Given the description of an element on the screen output the (x, y) to click on. 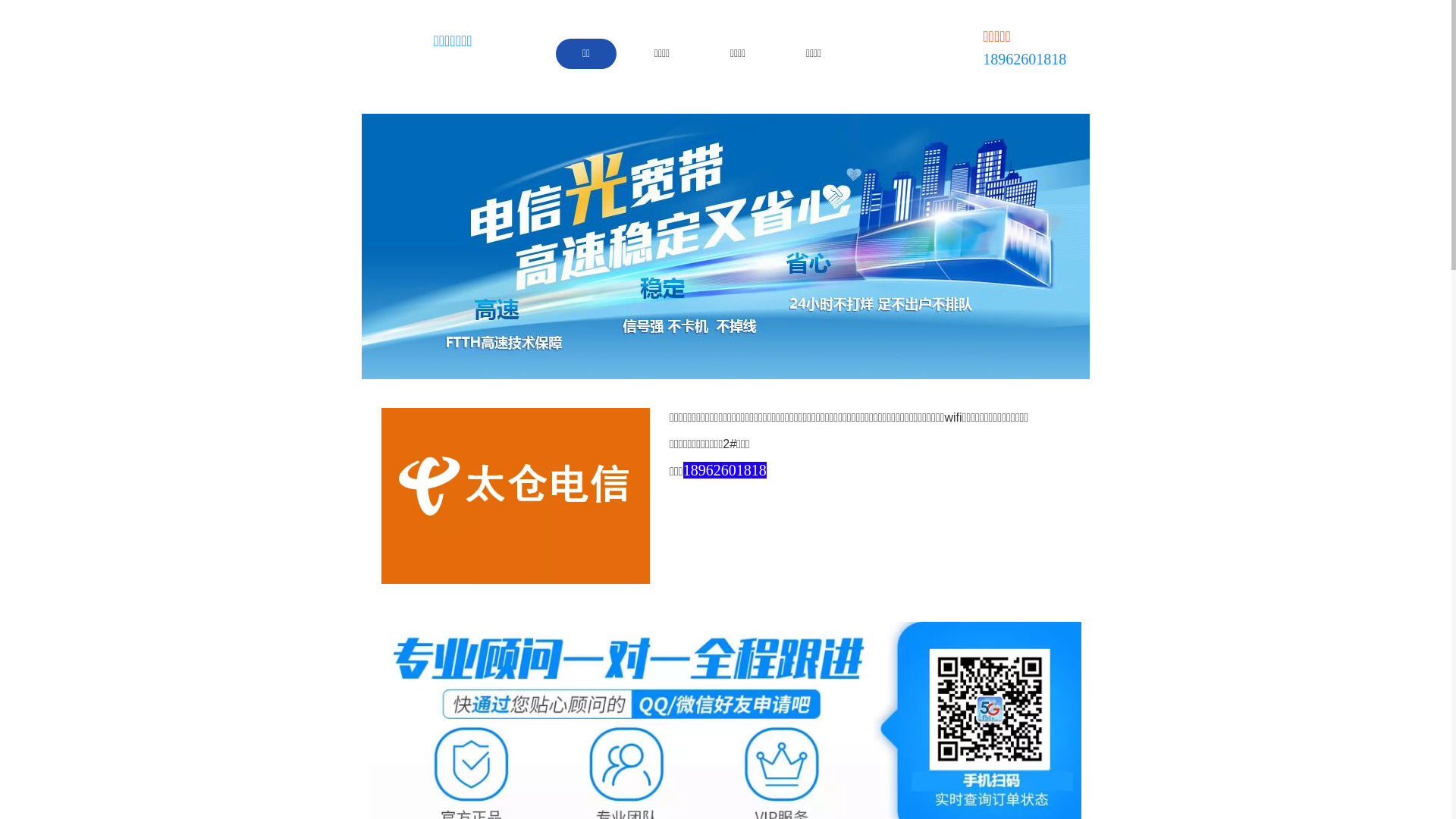
18962601818 Element type: text (724, 470)
